Given the description of an element on the screen output the (x, y) to click on. 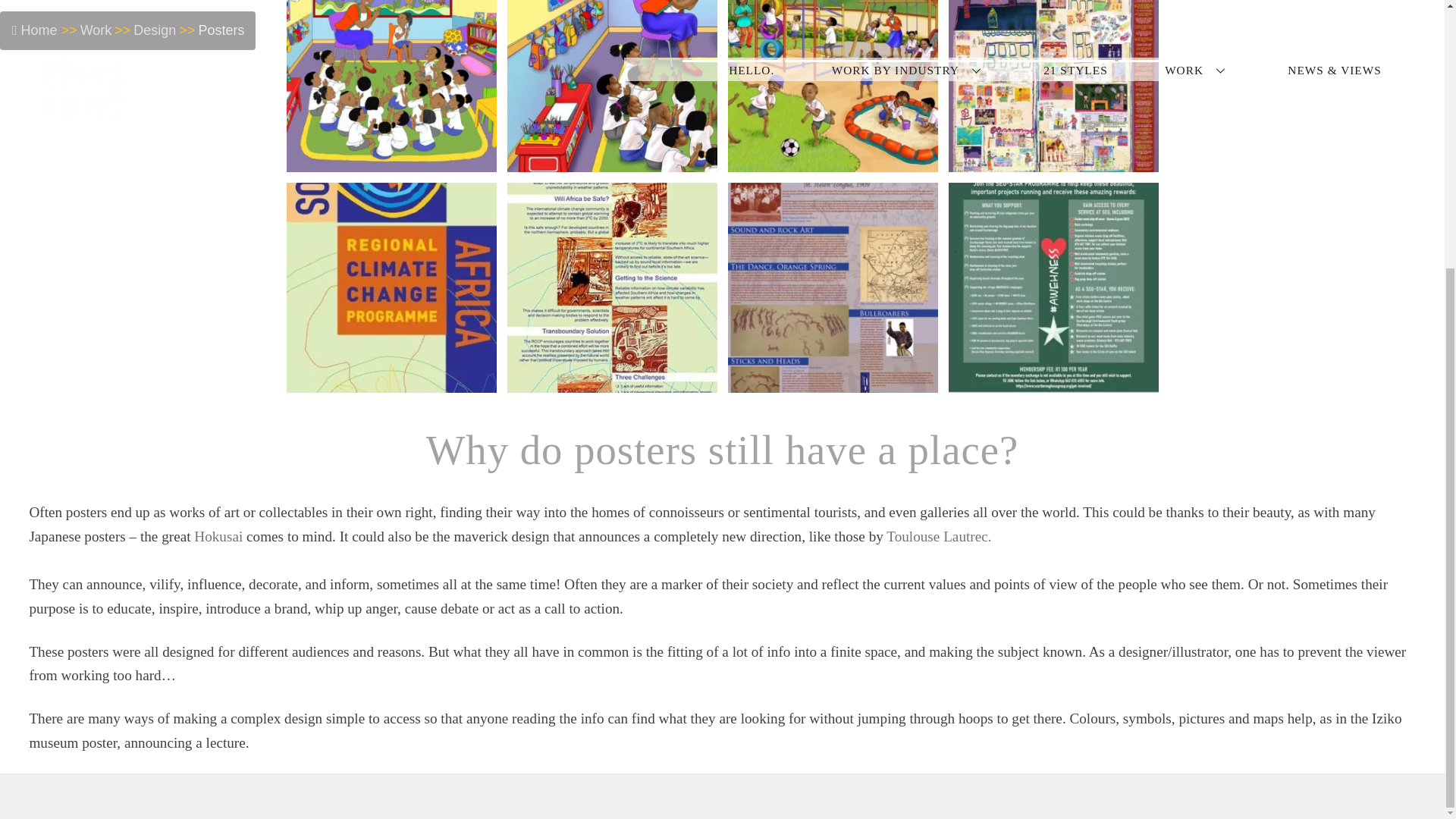
A2 Gr R Posters 03 (832, 85)
A2 Poster: Classroom activities (611, 159)
A2 Gr R Posters 02 flat colour (391, 85)
A2 Poster: Classroom materials (391, 159)
RCCP retractable banner 1 (391, 380)
A2 Gr R Posters 02 final half (611, 85)
Design: Posters, RCCP retractable banner (391, 287)
CWCT-poster (1052, 85)
A2 Poster: Playing outside (832, 159)
Child rights poster, Child Welfare Cape Town (1052, 159)
